Given the description of an element on the screen output the (x, y) to click on. 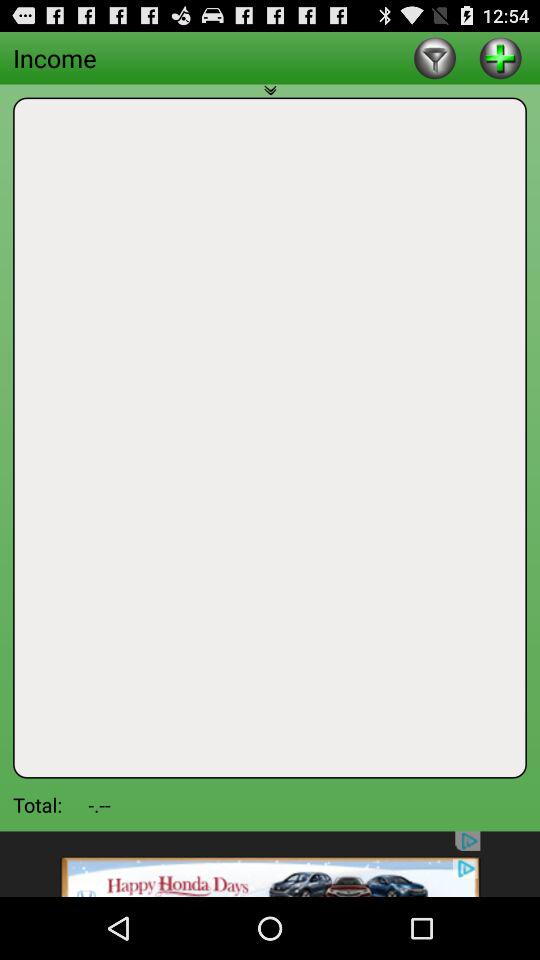
add item (500, 57)
